Given the description of an element on the screen output the (x, y) to click on. 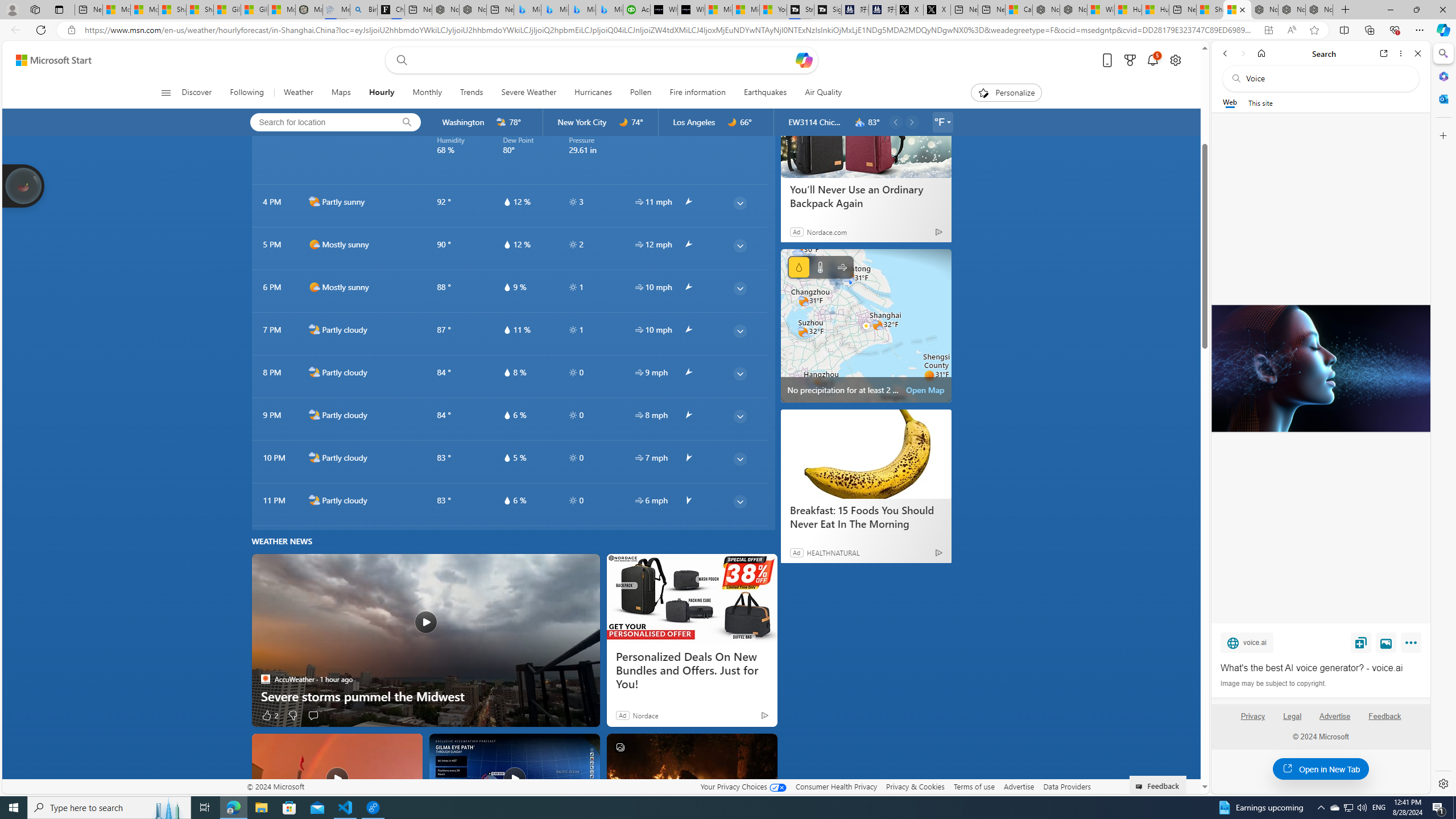
Pollen (640, 92)
Search for location (318, 122)
Severe Weather (529, 92)
Hurricanes (592, 92)
Accounting Software for Accountants, CPAs and Bookkeepers (636, 9)
Nordace Siena Pro 15 Backpack (1292, 9)
Chloe Sorvino (390, 9)
Forward (1242, 53)
